Given the description of an element on the screen output the (x, y) to click on. 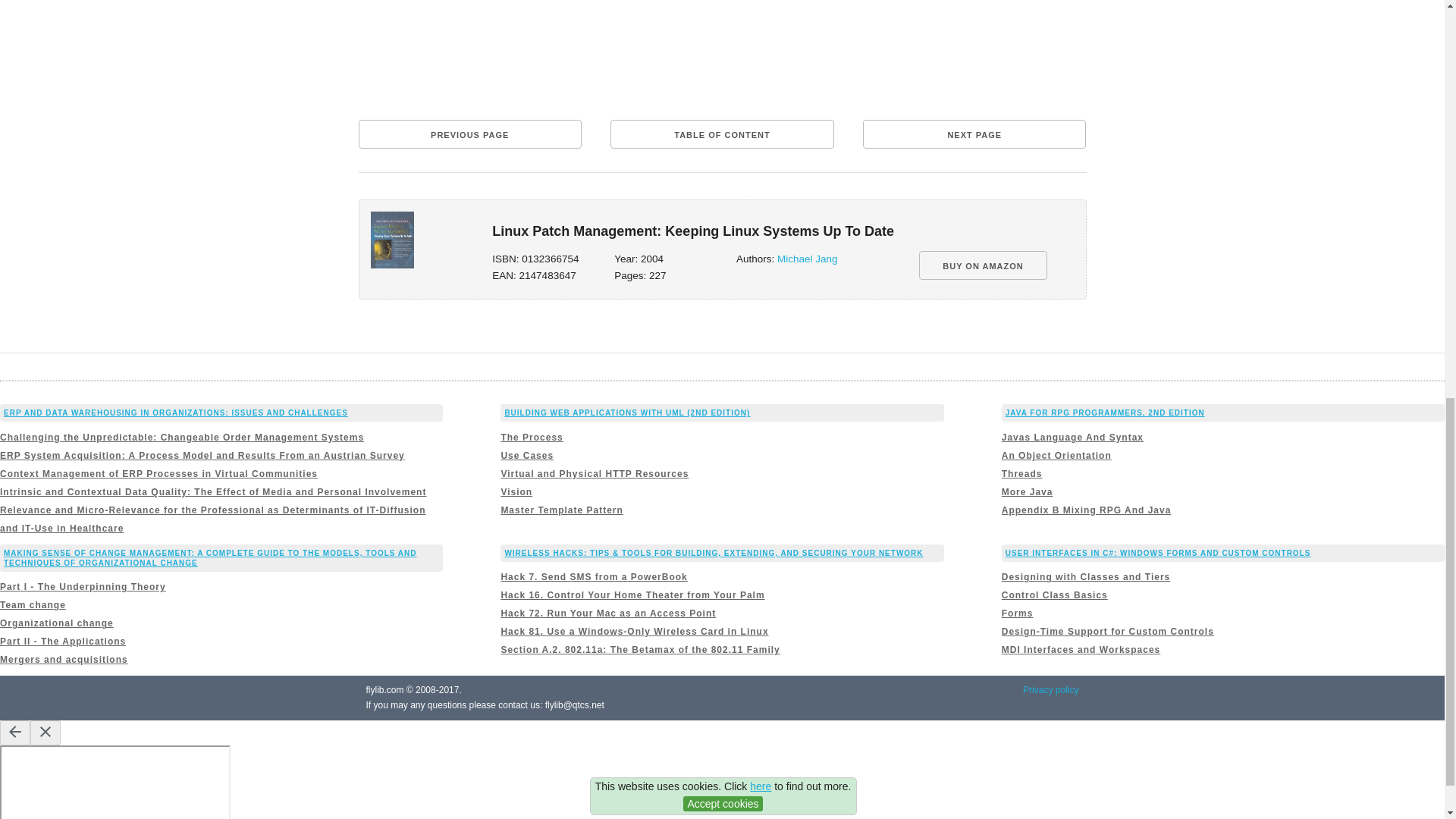
An Object Orientation (1056, 455)
BUY ON AMAZON (982, 265)
Advertisement (722, 54)
NEXT PAGE (974, 133)
The Process (531, 437)
JAVA FOR RPG PROGRAMMERS, 2ND EDITION (1105, 412)
Hack 72. Run Your Mac as an Access Point (608, 613)
Hack 81. Use a Windows-Only Wireless Card in Linux (634, 631)
Appendix B Mixing RPG And Java (1086, 510)
Context Management of ERP Processes in Virtual Communities (158, 473)
TABLE OF CONTENT (721, 133)
